Given the description of an element on the screen output the (x, y) to click on. 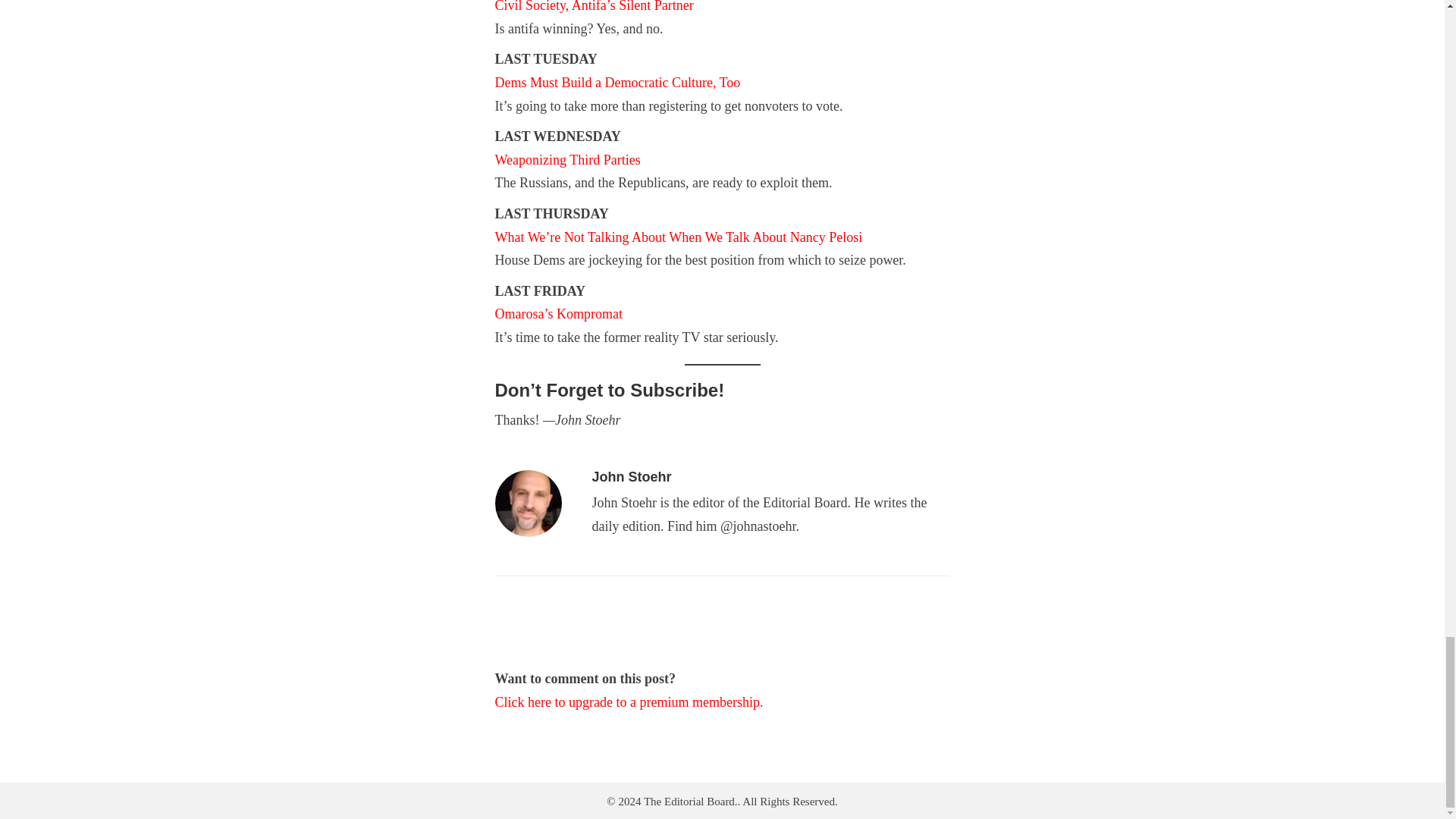
Dems Must Build a Democratic Culture, Too (617, 82)
Click here to upgrade to a premium membership. (628, 702)
Weaponizing Third Parties (567, 159)
John Stoehr (631, 476)
